Given the description of an element on the screen output the (x, y) to click on. 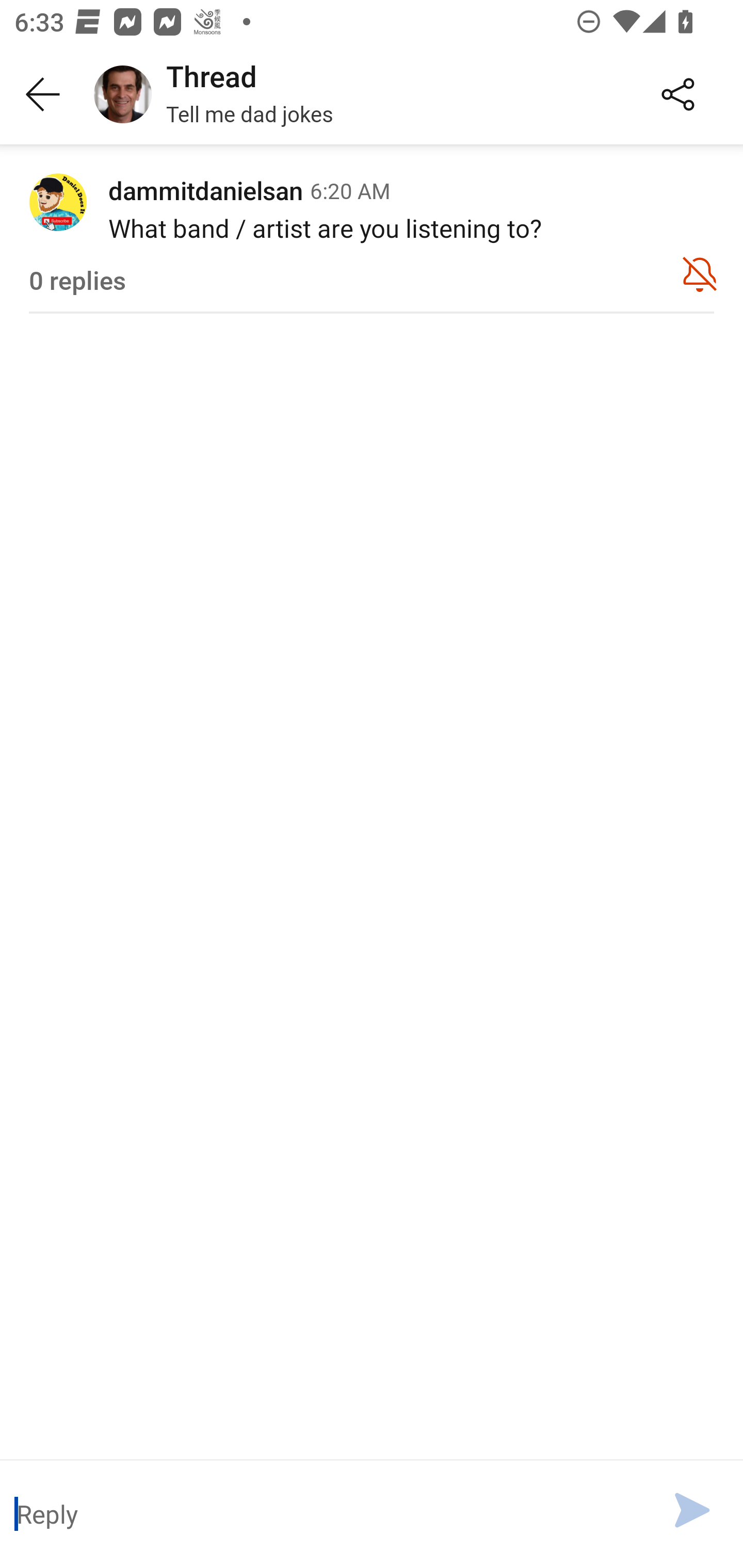
Back (43, 94)
Share (677, 94)
Unmute (699, 273)
Send message (692, 1510)
Message (324, 1513)
